Given the description of an element on the screen output the (x, y) to click on. 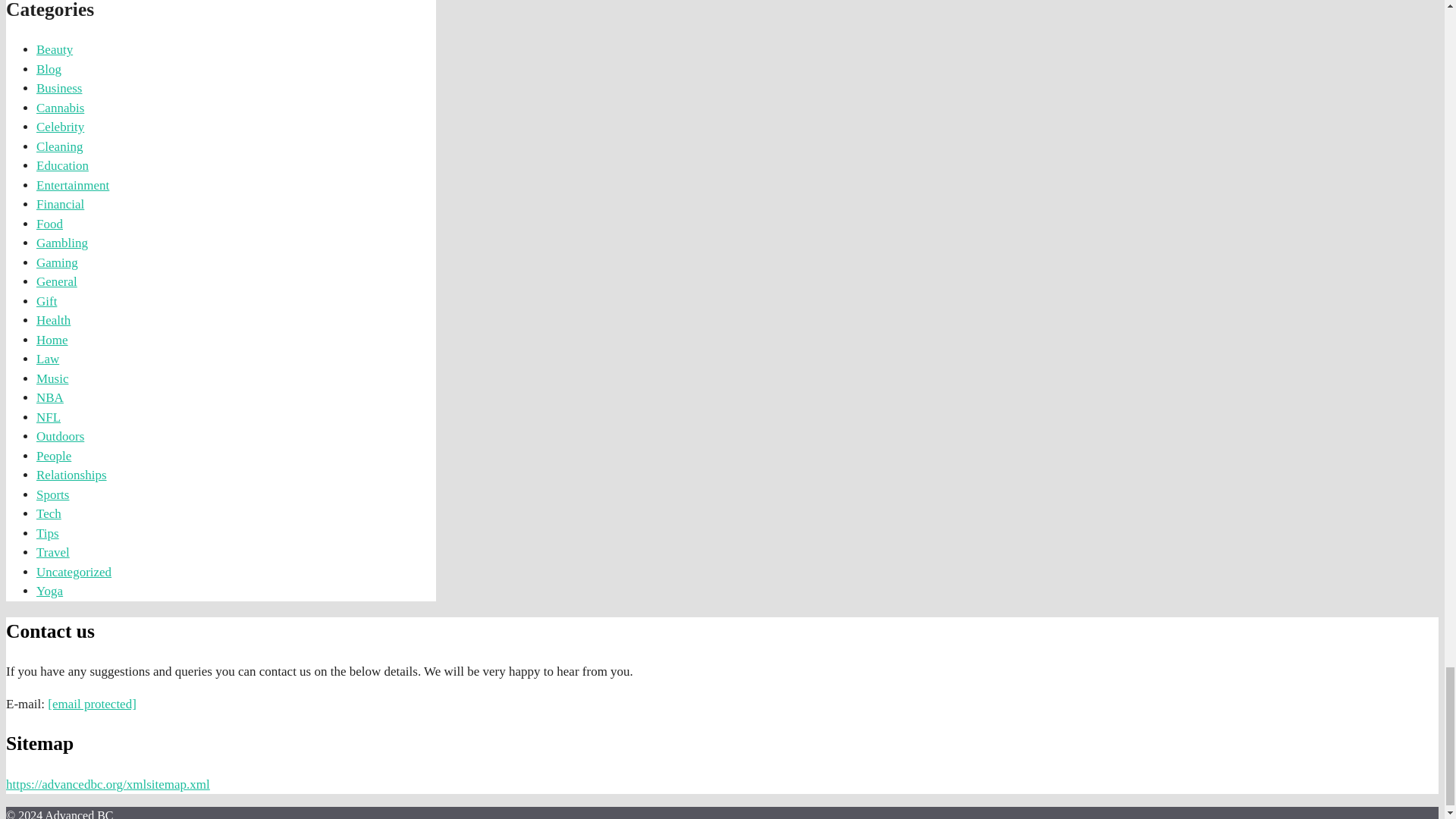
Business (58, 88)
Celebrity (60, 126)
Beauty (54, 49)
Cannabis (60, 107)
Blog (48, 69)
